Given the description of an element on the screen output the (x, y) to click on. 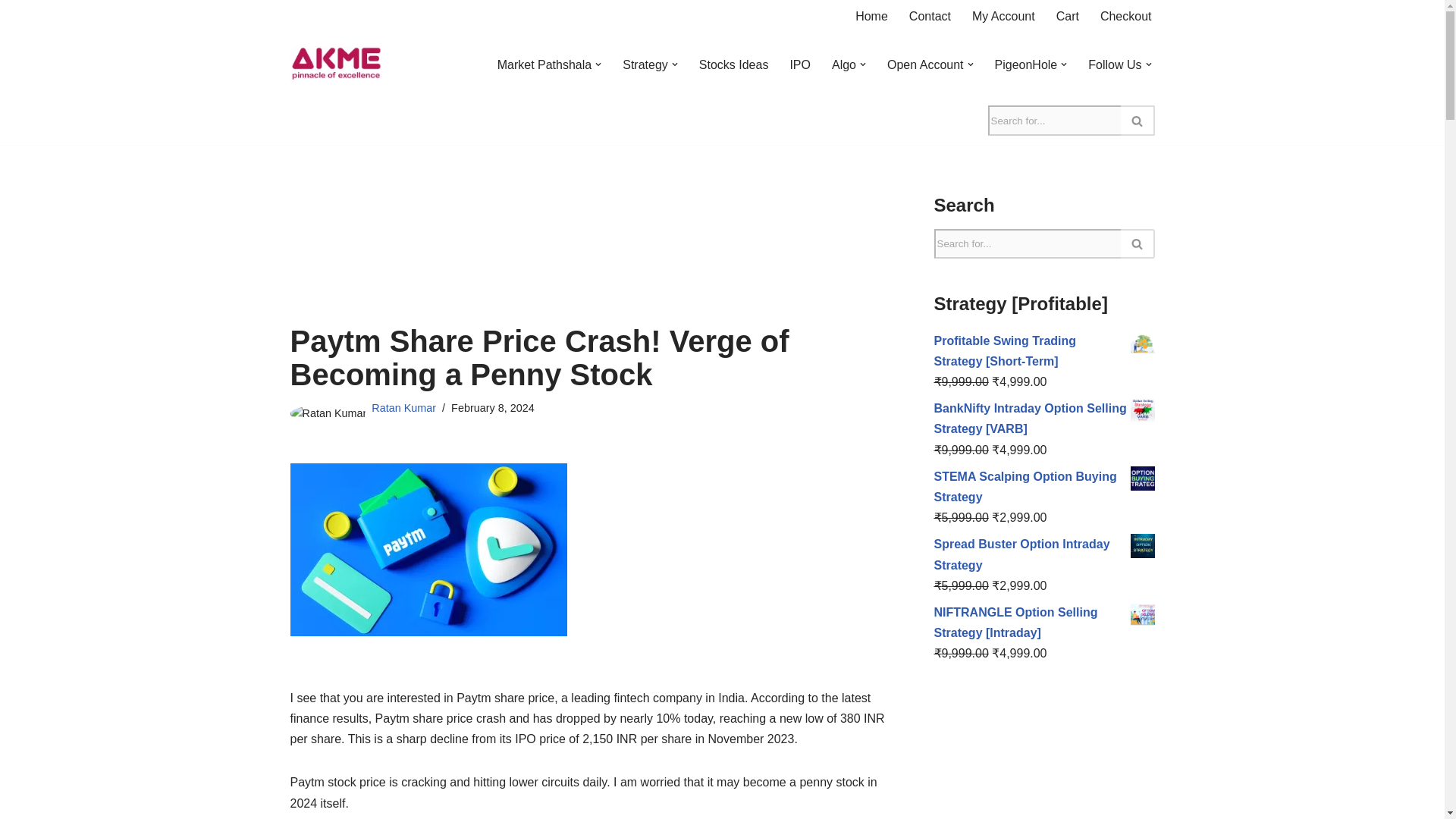
Open Account (924, 64)
PigeonHole (1026, 64)
Cart (1067, 15)
Stocks Ideas (733, 64)
Contact (929, 15)
Posts by Ratan Kumar (403, 408)
Checkout (1125, 15)
Strategy (645, 64)
Skip to content (11, 31)
IPO (799, 64)
